Given the description of an element on the screen output the (x, y) to click on. 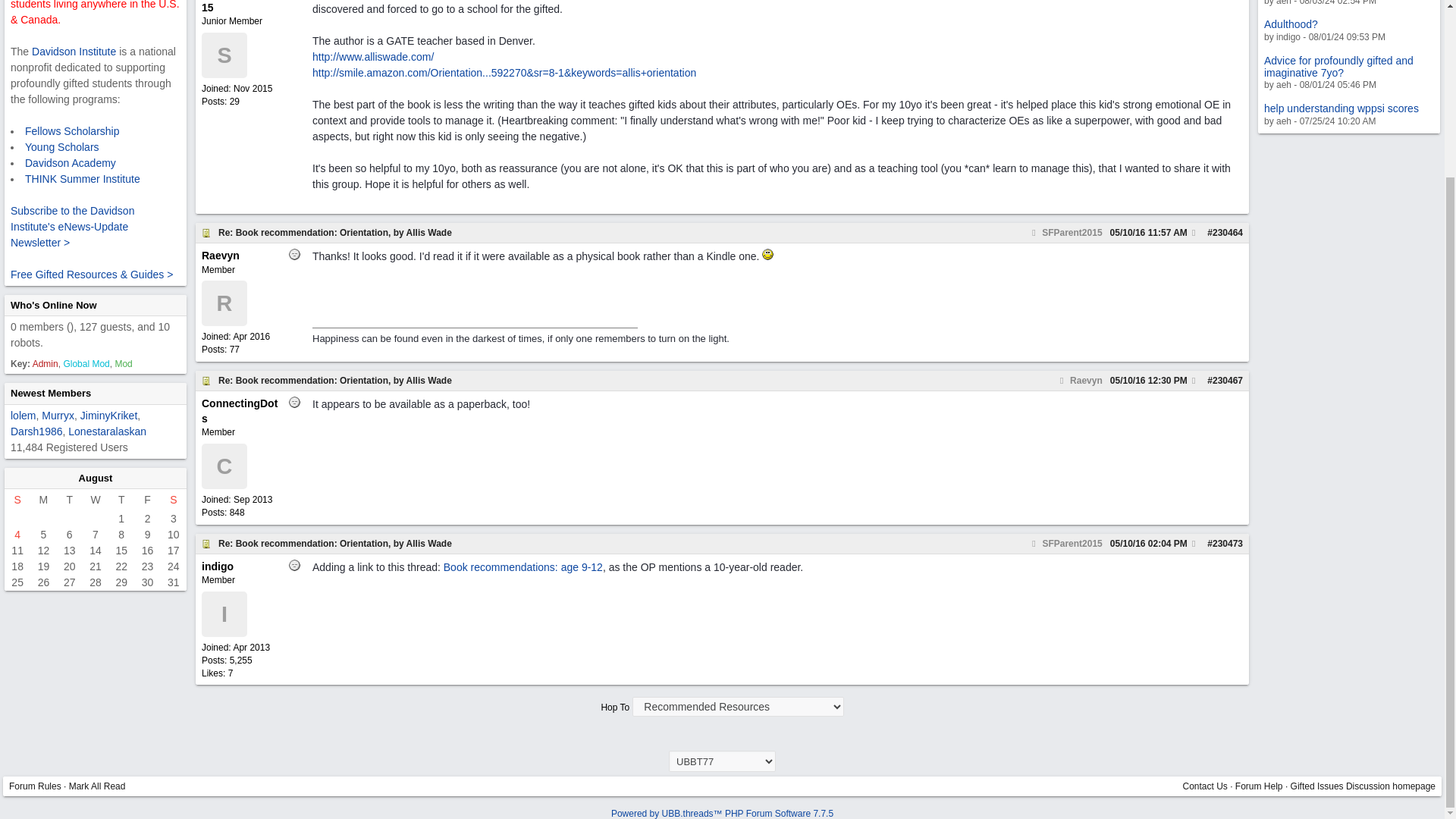
Lonestaralaskan (17, 534)
Davidson Academy (107, 430)
Darsh1986 (70, 162)
Young Scholars (36, 430)
Fellows Scholarship (61, 146)
Davidson Institute (71, 130)
Newest Members (74, 51)
Murryx (50, 392)
JiminyKriket (58, 415)
lolem (108, 415)
August (22, 415)
Who's Online Now (95, 477)
THINK Summer Institute (53, 304)
